Given the description of an element on the screen output the (x, y) to click on. 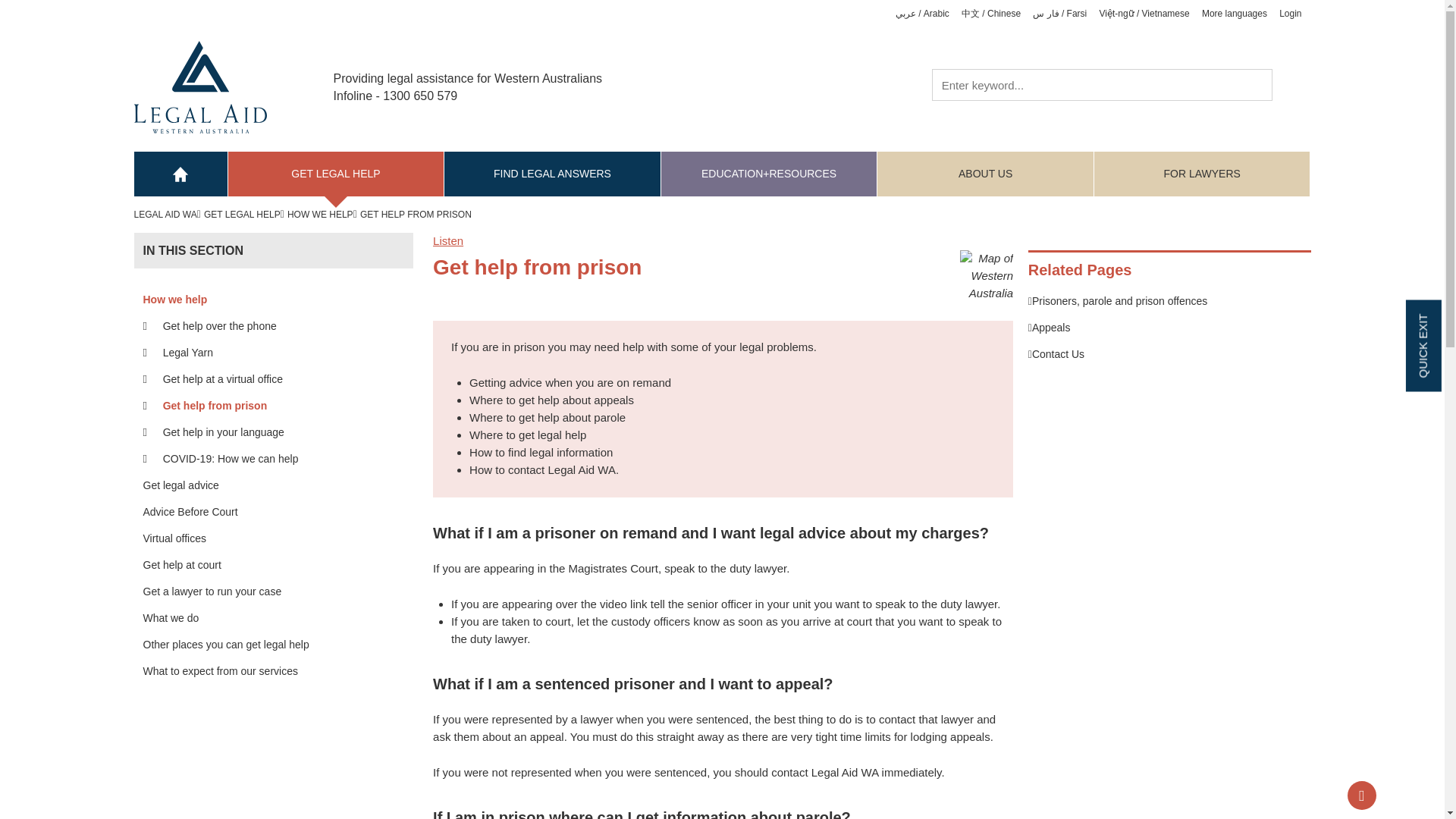
HOW WE HELP (321, 214)
Farsi (1059, 13)
Return to home page (199, 85)
Login (1290, 13)
Get help over the phone (279, 325)
Call the Infoline or Legal Yarn (279, 325)
Legal Yarn (279, 352)
Search (1291, 82)
LEGAL AID WA (166, 214)
Listen to this page using ReadSpeaker webReader (447, 240)
Get legal advice (272, 485)
Search (1291, 82)
